Given the description of an element on the screen output the (x, y) to click on. 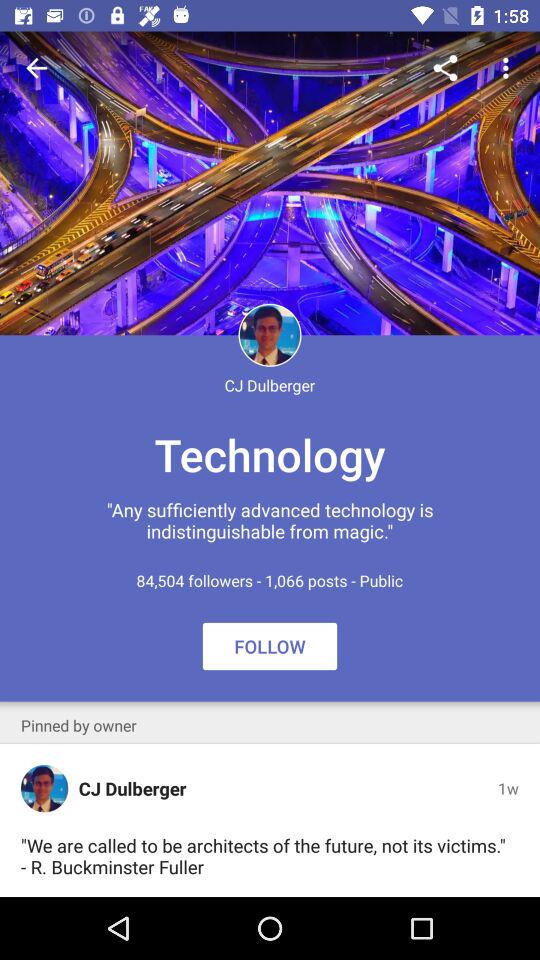
click the we are called item (265, 856)
